Given the description of an element on the screen output the (x, y) to click on. 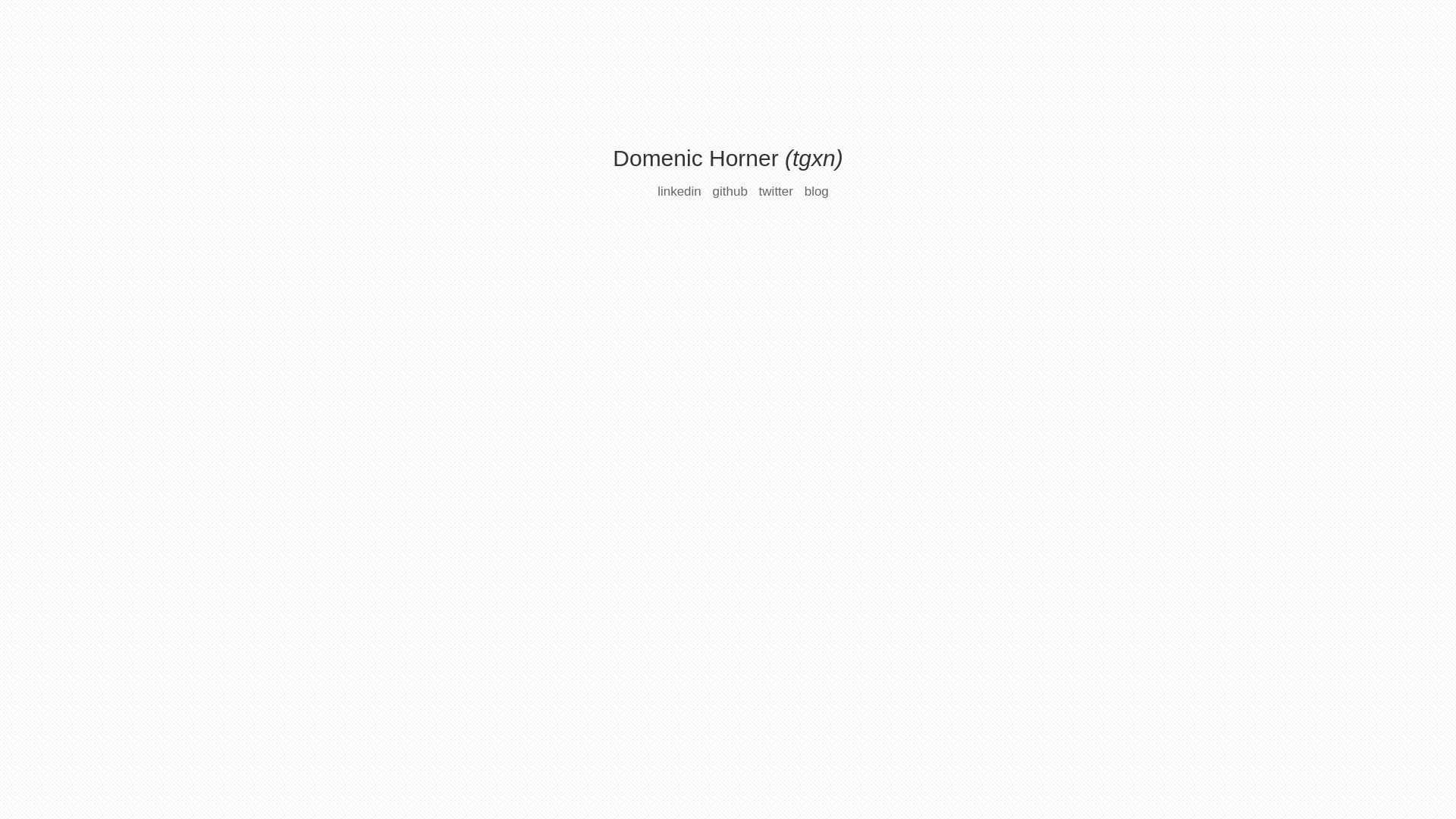
linkedin Element type: text (679, 191)
github Element type: text (729, 191)
twitter Element type: text (776, 191)
blog Element type: text (816, 191)
